Given the description of an element on the screen output the (x, y) to click on. 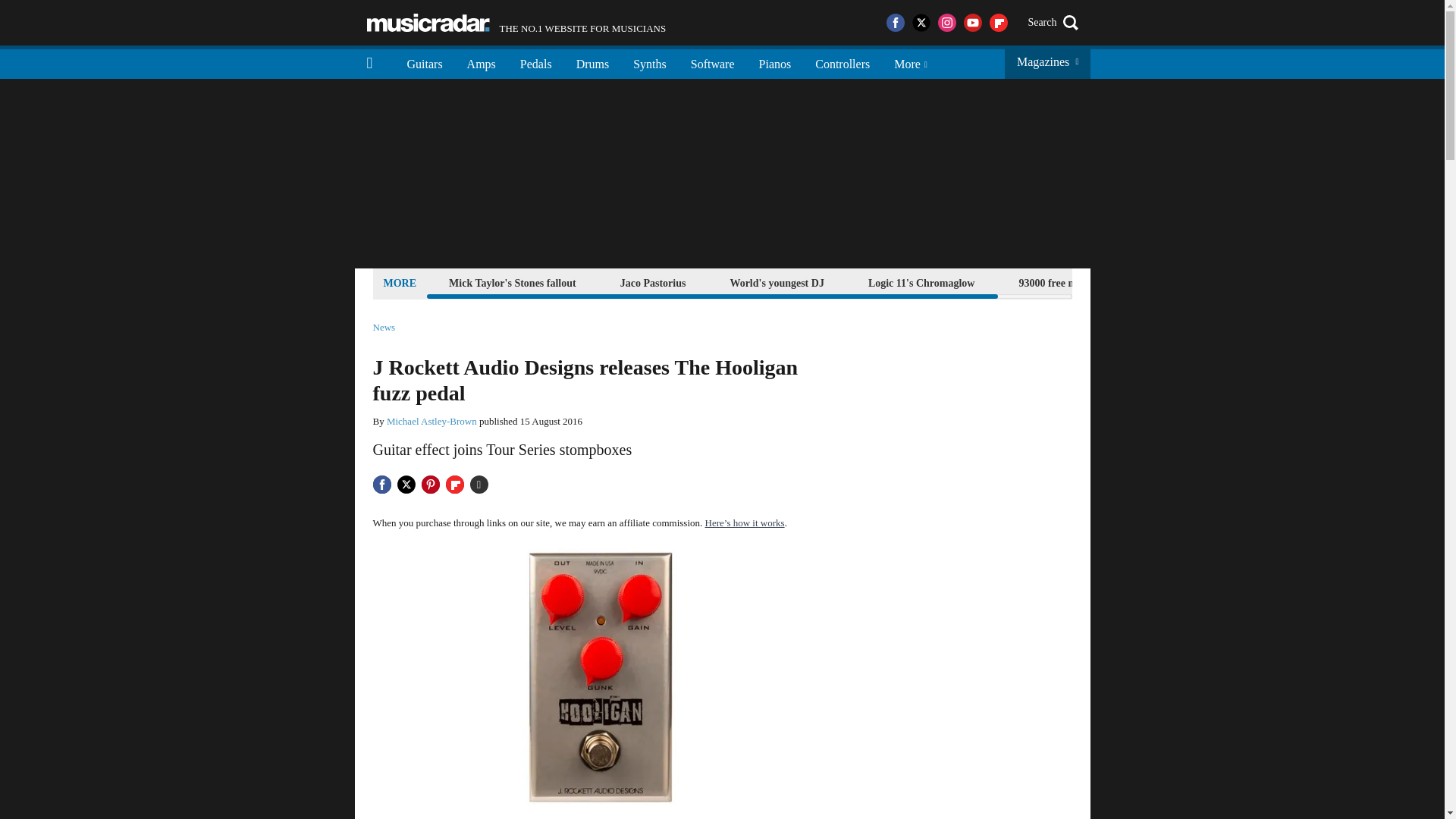
Amps (481, 61)
Software (712, 61)
News (384, 327)
Mick Taylor's Stones fallout (512, 282)
Music Radar (427, 22)
Pedals (536, 61)
World's youngest DJ (775, 282)
Guitars (424, 61)
Controllers (842, 61)
Jaco Pastorius (516, 22)
Logic 11's Chromaglow (652, 282)
93000 free music samples (921, 282)
Drums (1075, 282)
Synths (592, 61)
